Given the description of an element on the screen output the (x, y) to click on. 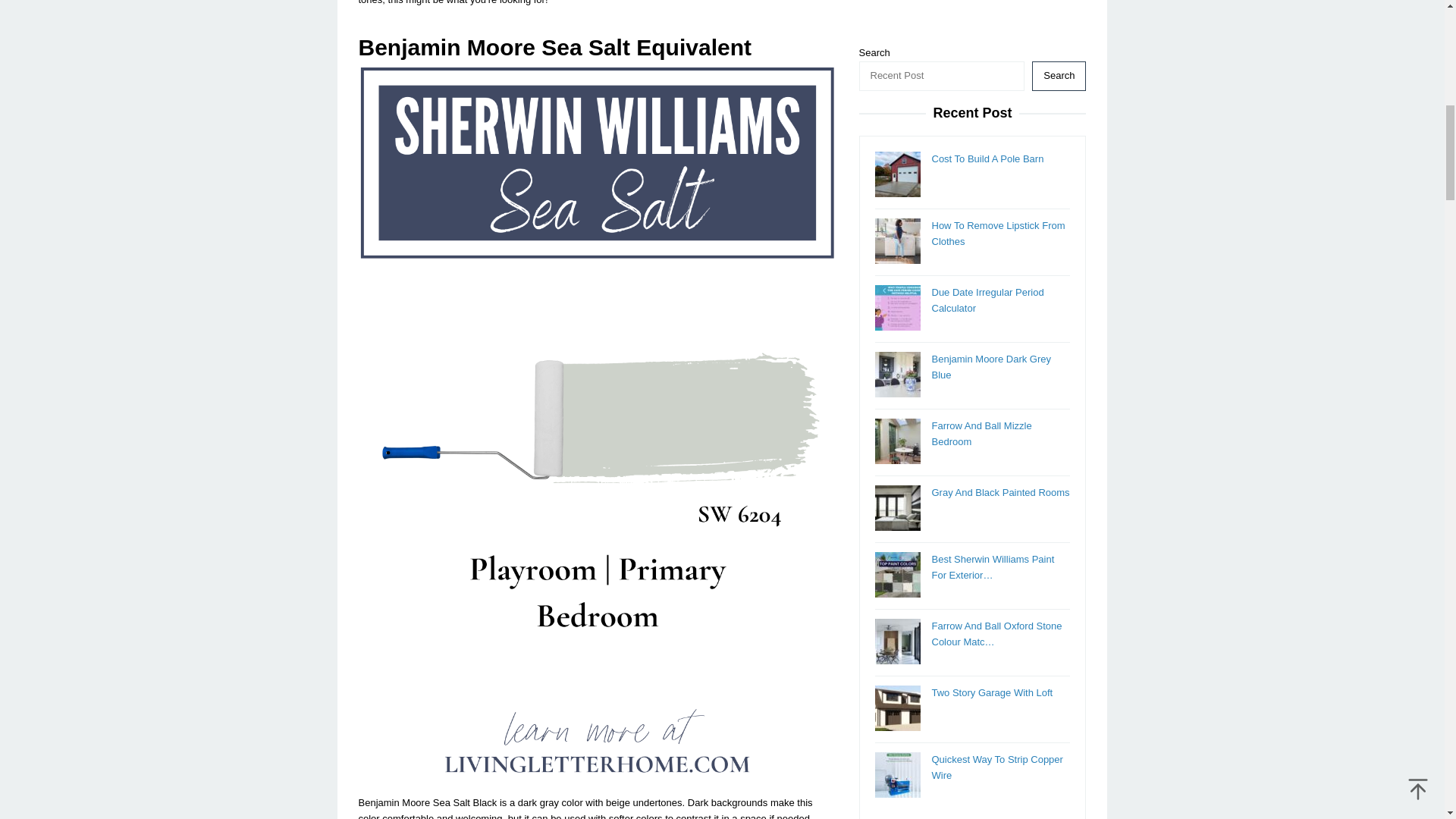
Two Story Garage With Loft (991, 233)
Quickest Way To Strip Copper Wire (996, 307)
Gray And Black Painted Rooms (999, 32)
